Given the description of an element on the screen output the (x, y) to click on. 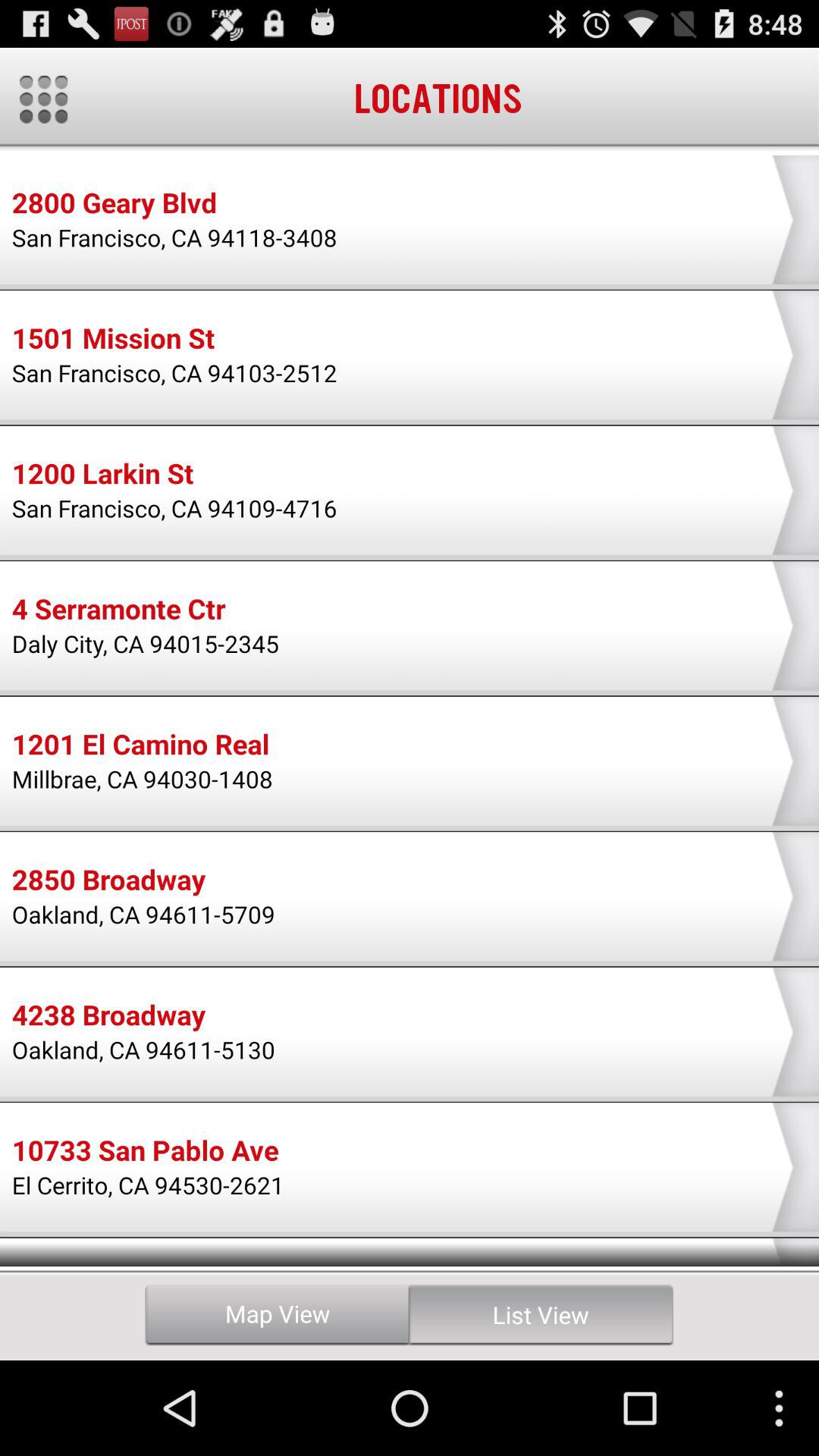
tap the icon to the right of the map view item (540, 1314)
